Given the description of an element on the screen output the (x, y) to click on. 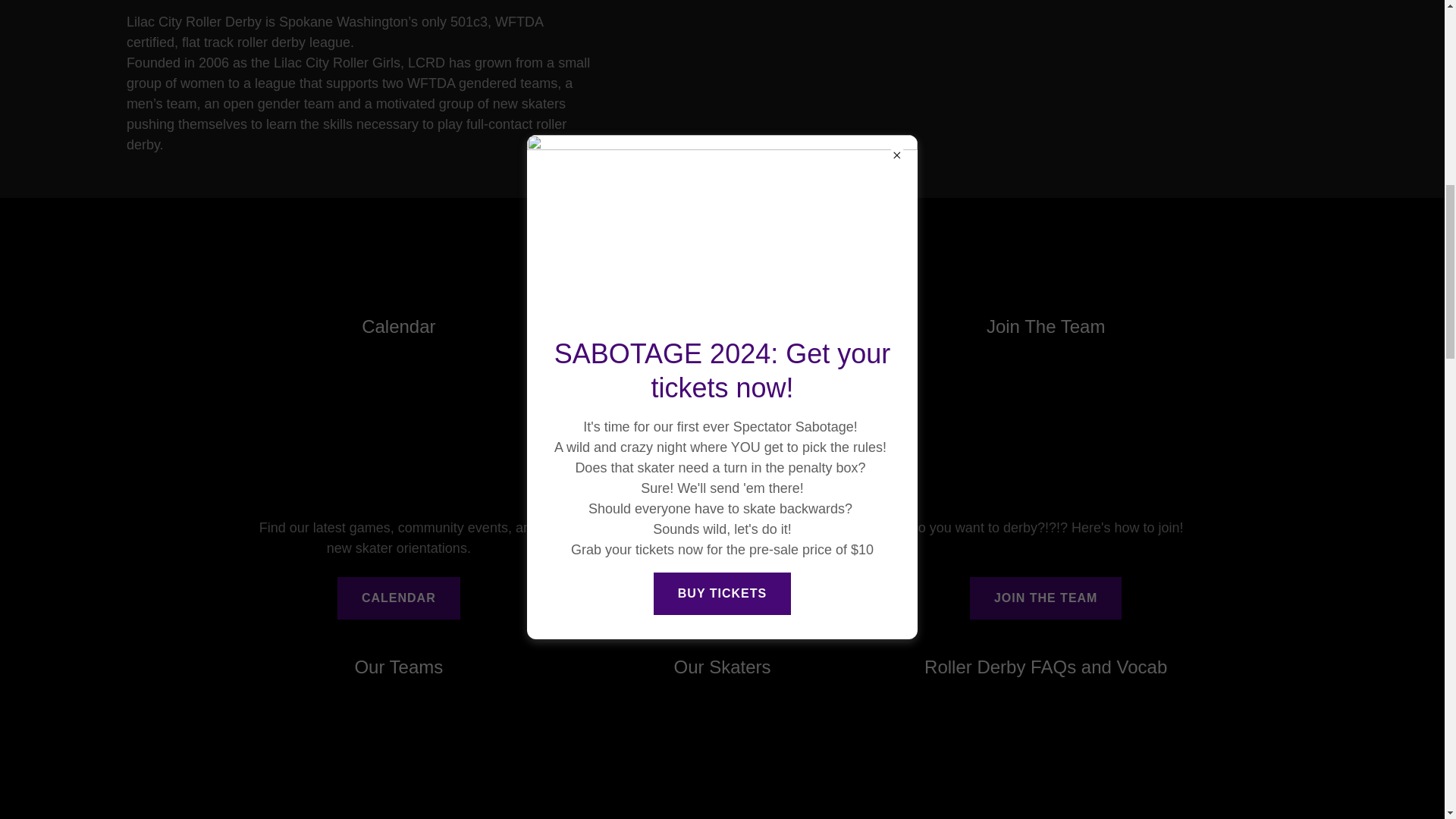
JOIN THE TEAM (1045, 598)
CALENDAR (398, 598)
SPONSOR US (721, 598)
